Given the description of an element on the screen output the (x, y) to click on. 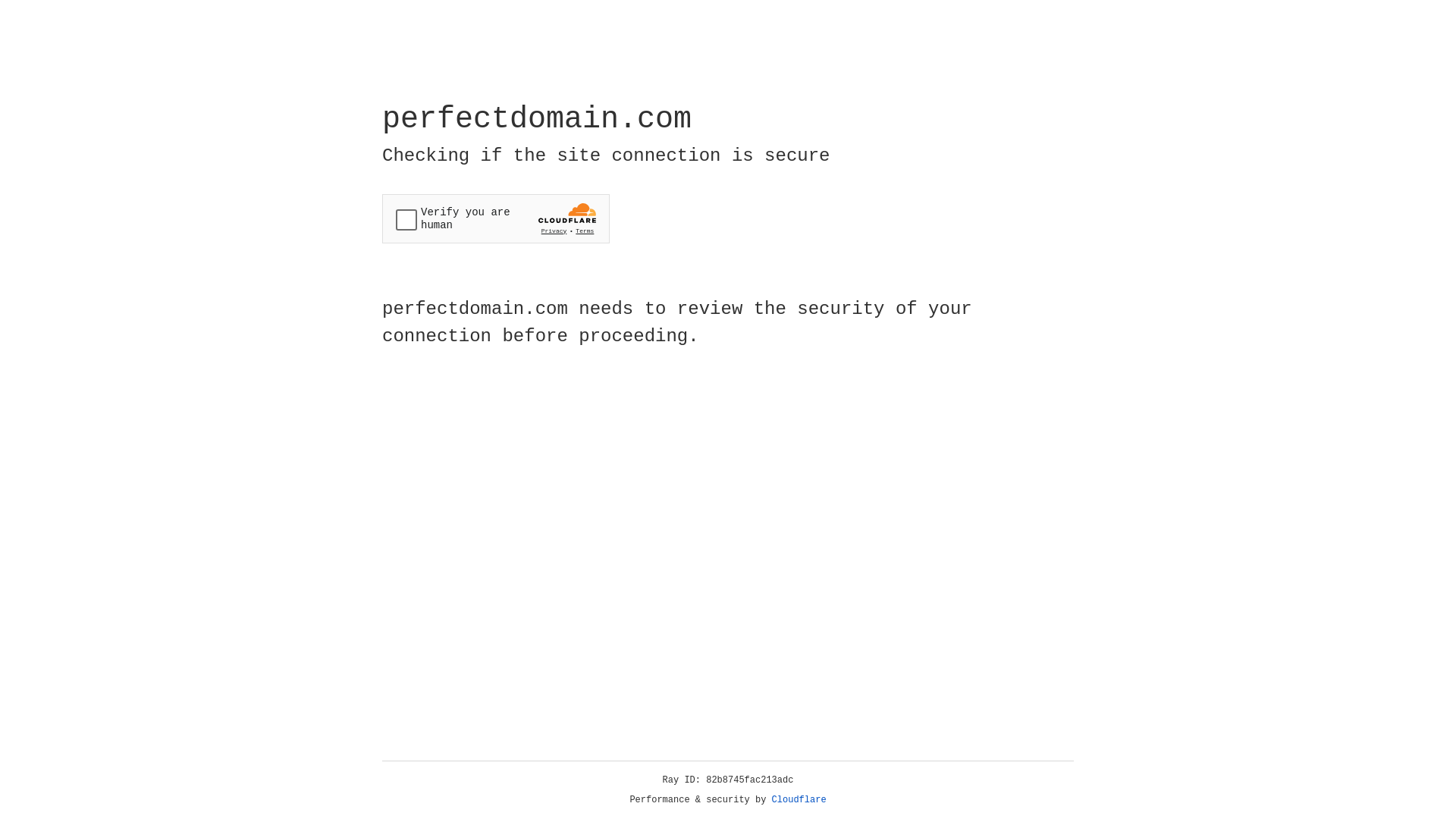
Widget containing a Cloudflare security challenge Element type: hover (495, 218)
Cloudflare Element type: text (798, 799)
